Given the description of an element on the screen output the (x, y) to click on. 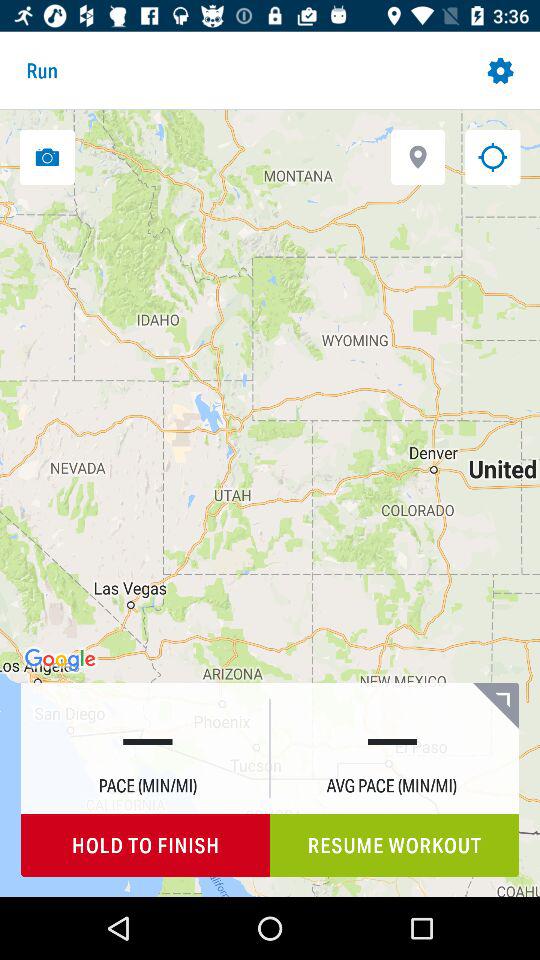
select photograph (47, 156)
